Given the description of an element on the screen output the (x, y) to click on. 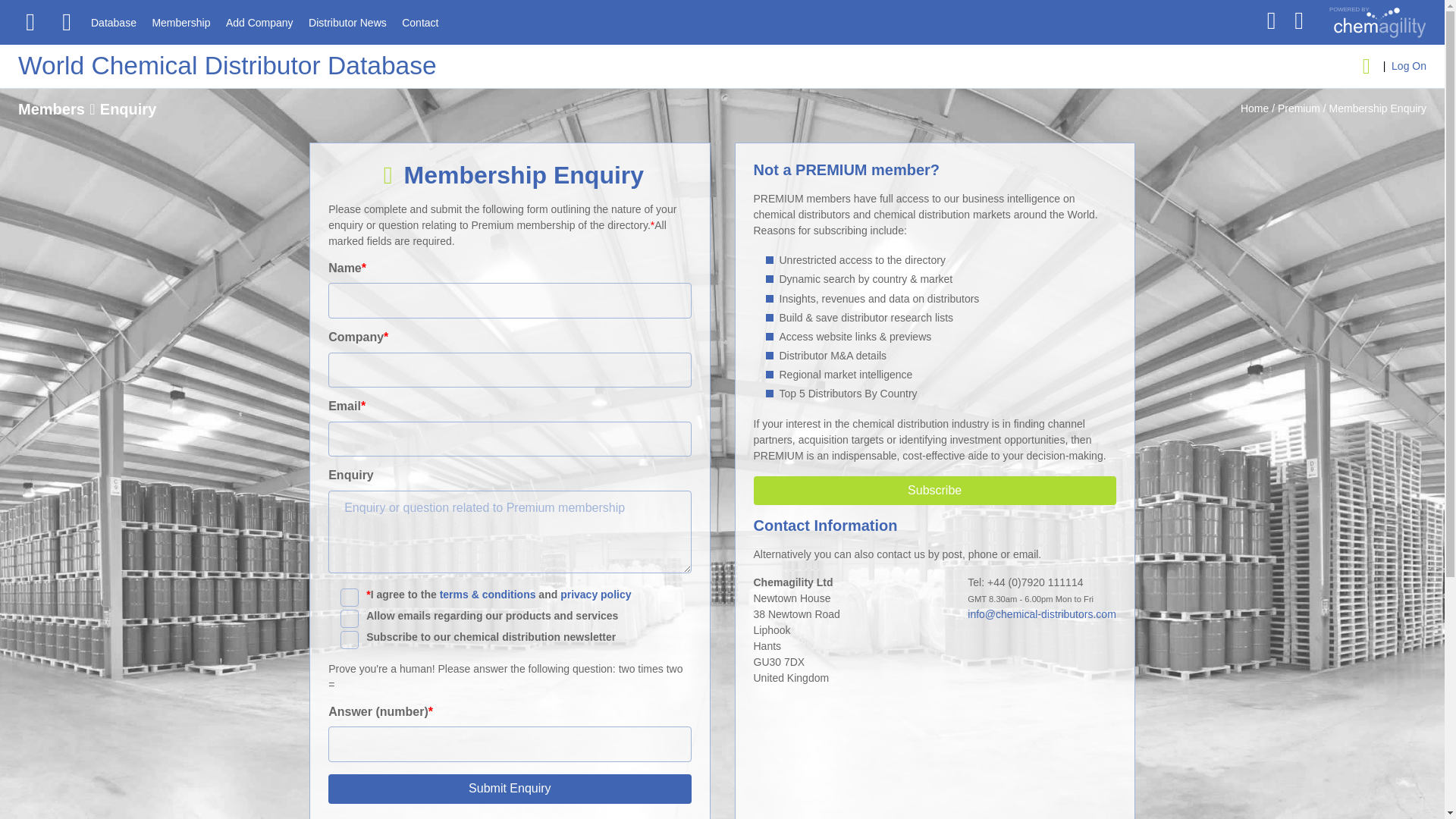
Submit Enquiry (509, 788)
Database (113, 22)
Chemagility on Twitter (1271, 20)
Add Company (259, 22)
Distributor News (347, 22)
about chemagility (1368, 33)
Membership (180, 22)
World Chemical Distributor Database Home (226, 65)
Contact (419, 22)
